Given the description of an element on the screen output the (x, y) to click on. 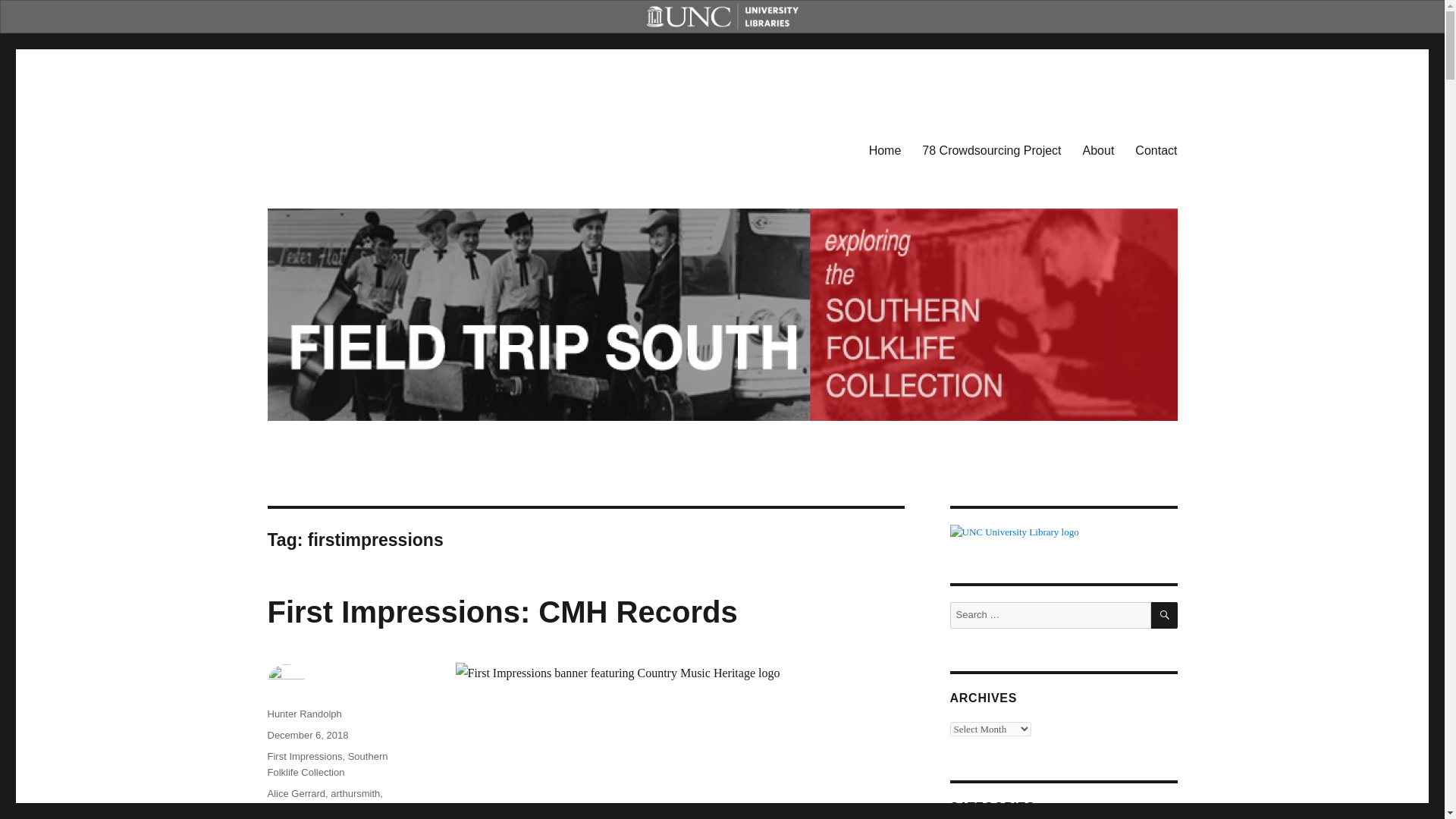
First Impressions (304, 756)
Hunter Randolph (303, 713)
Alice Gerrard (295, 793)
billmonroe (289, 808)
Field Trip South (347, 146)
December 6, 2018 (306, 735)
Southern Folklife Collection (326, 764)
78 Crowdsourcing Project (991, 150)
cmh (327, 808)
arthursmith (355, 793)
